Given the description of an element on the screen output the (x, y) to click on. 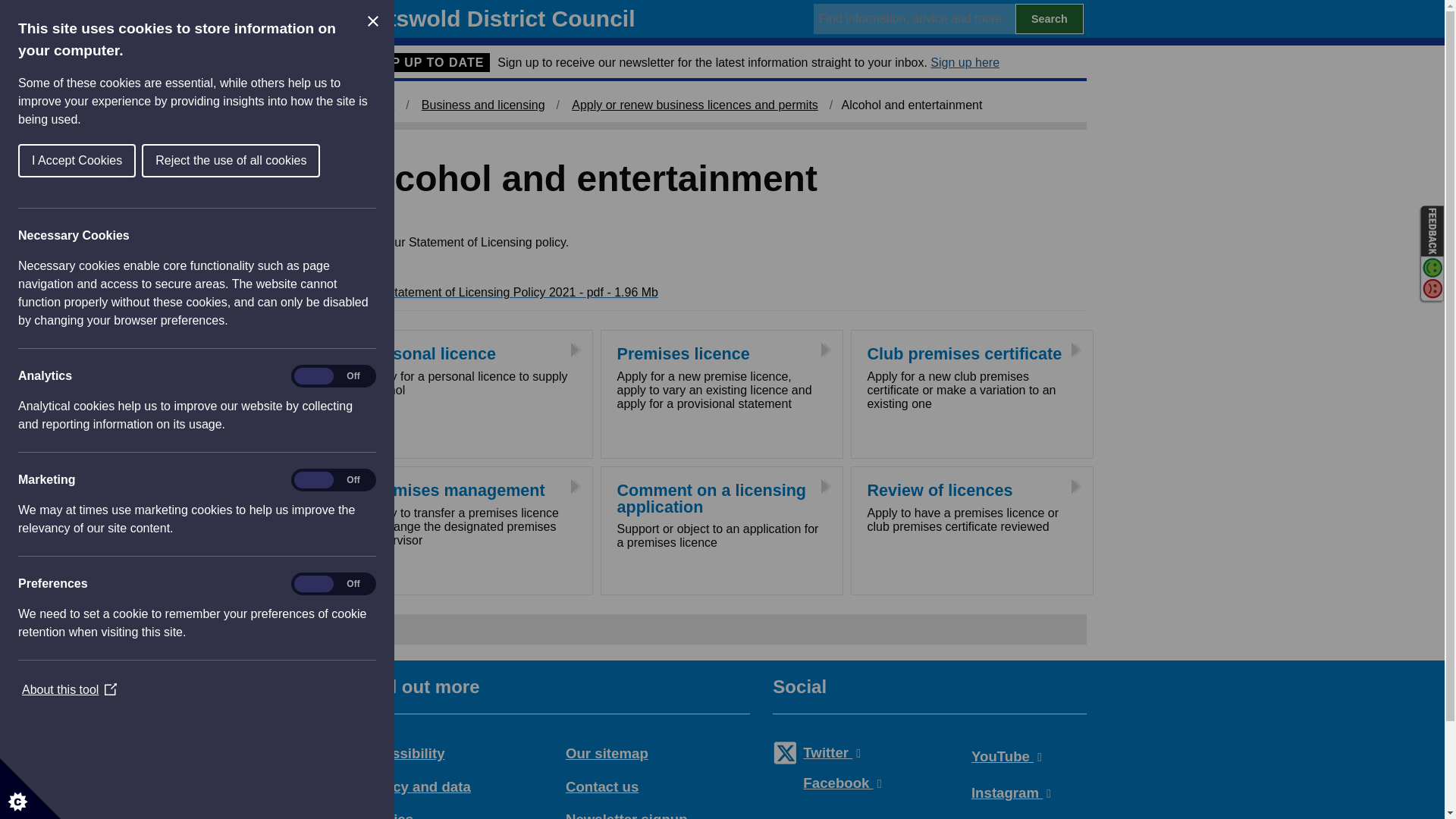
Instagram (999, 792)
Opens in a new window (820, 752)
Cotswold District Council (498, 18)
Sign up here (964, 62)
Search (1048, 19)
Facebook (830, 782)
Privacy and data (417, 786)
